Given the description of an element on the screen output the (x, y) to click on. 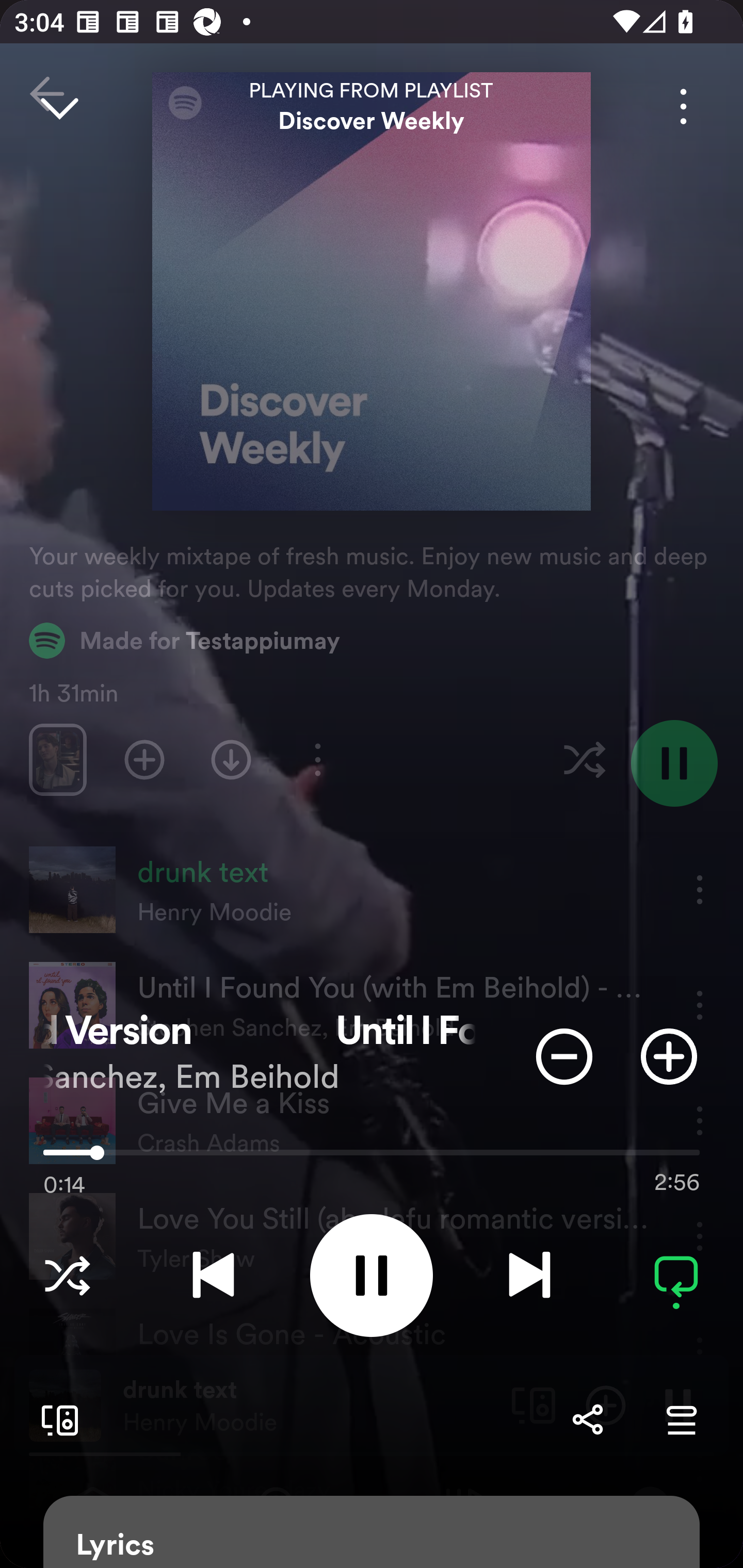
Close (59, 106)
PLAYING FROM PLAYLIST Discover Weekly (371, 106)
Don't play this (564, 1056)
Add item (669, 1056)
0:13 2:56 13808.0 Use volume keys to adjust (371, 1157)
Pause (371, 1275)
Previous (212, 1275)
Next (529, 1275)
Shuffle tracks (66, 1275)
Repeat (676, 1275)
Share (587, 1419)
Go to Queue (681, 1419)
Connect to a device. Opens the devices menu (55, 1419)
Lyrics (371, 1531)
